Given the description of an element on the screen output the (x, y) to click on. 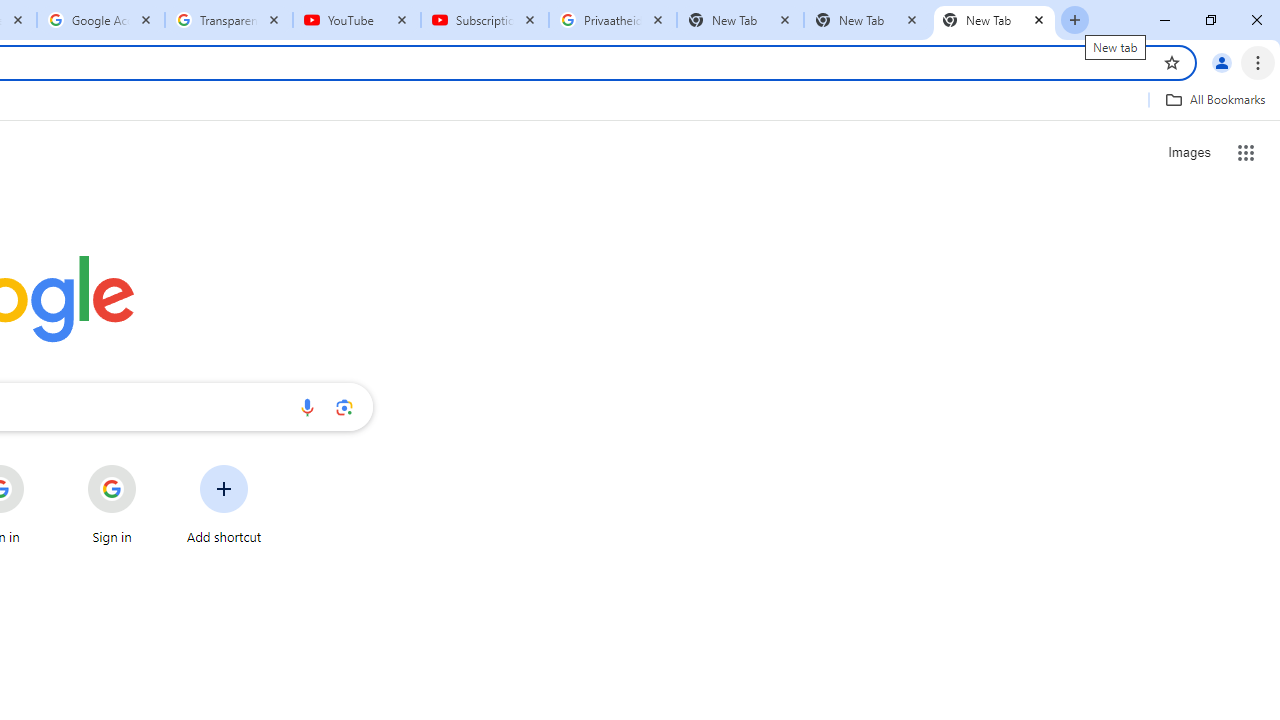
YouTube (357, 20)
Add shortcut (223, 504)
New Tab (994, 20)
Search for Images  (1188, 152)
Google Account (101, 20)
More actions for Sign in shortcut (152, 466)
